Given the description of an element on the screen output the (x, y) to click on. 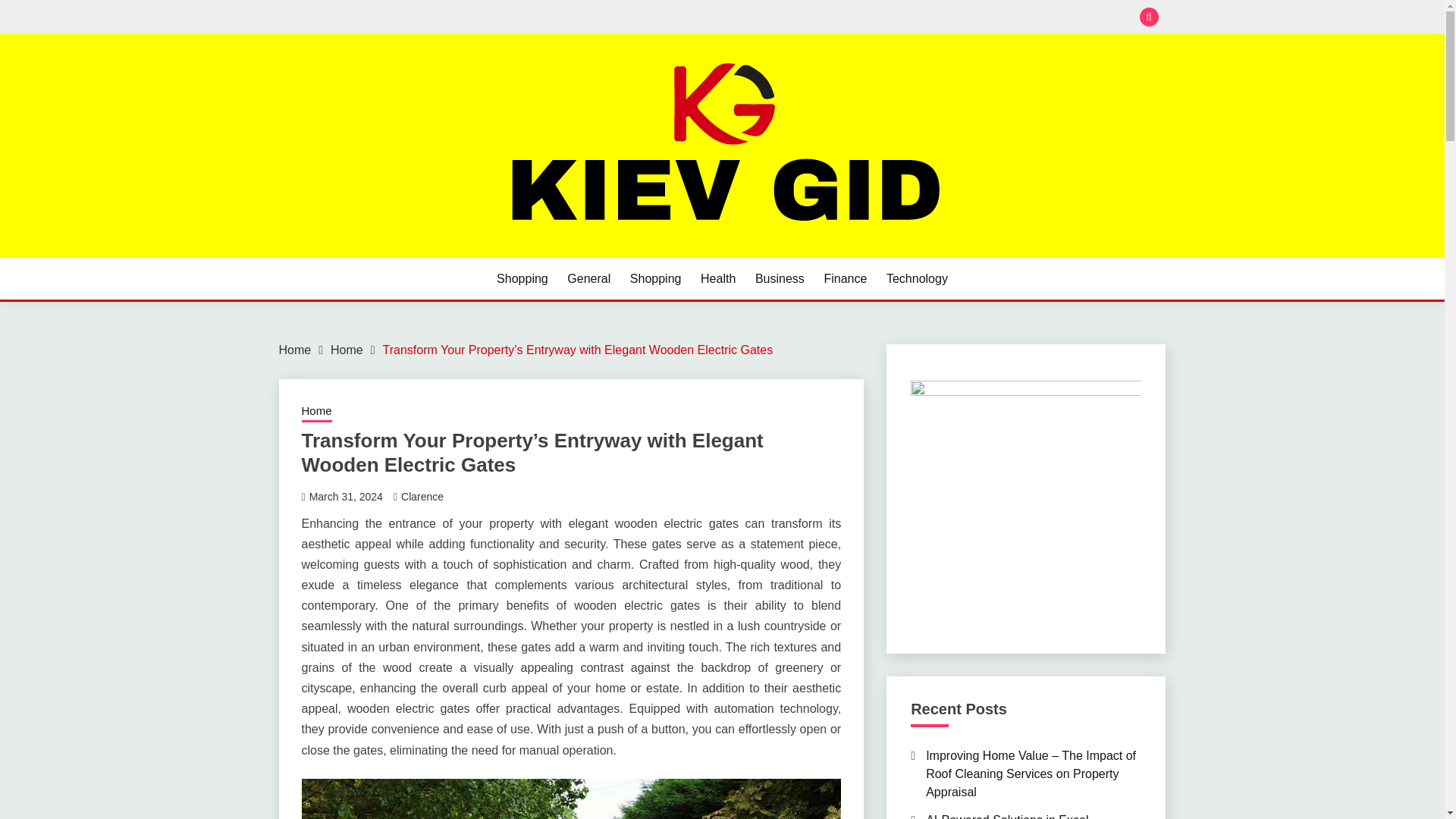
Search (832, 18)
Health (717, 279)
March 31, 2024 (345, 495)
Shopping (655, 279)
Clarence (422, 495)
Finance (845, 279)
KIEV GID (340, 255)
Home (346, 349)
Business (780, 279)
Technology (916, 279)
Home (316, 412)
Home (295, 349)
Shopping (522, 279)
General (588, 279)
